Given the description of an element on the screen output the (x, y) to click on. 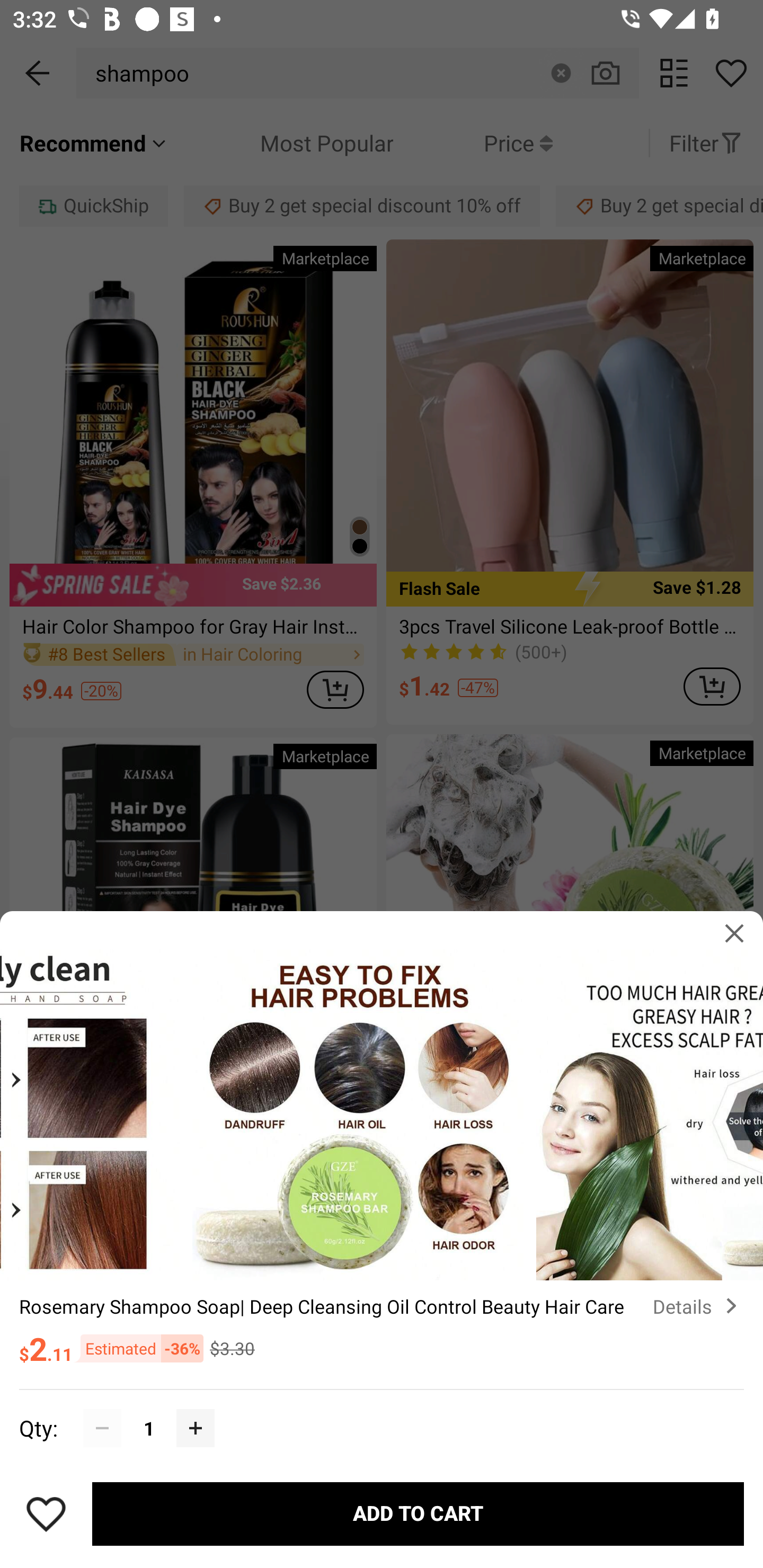
Details (698, 1305)
Estimated -36% (137, 1348)
ADD TO CART (417, 1513)
Save (46, 1513)
